Given the description of an element on the screen output the (x, y) to click on. 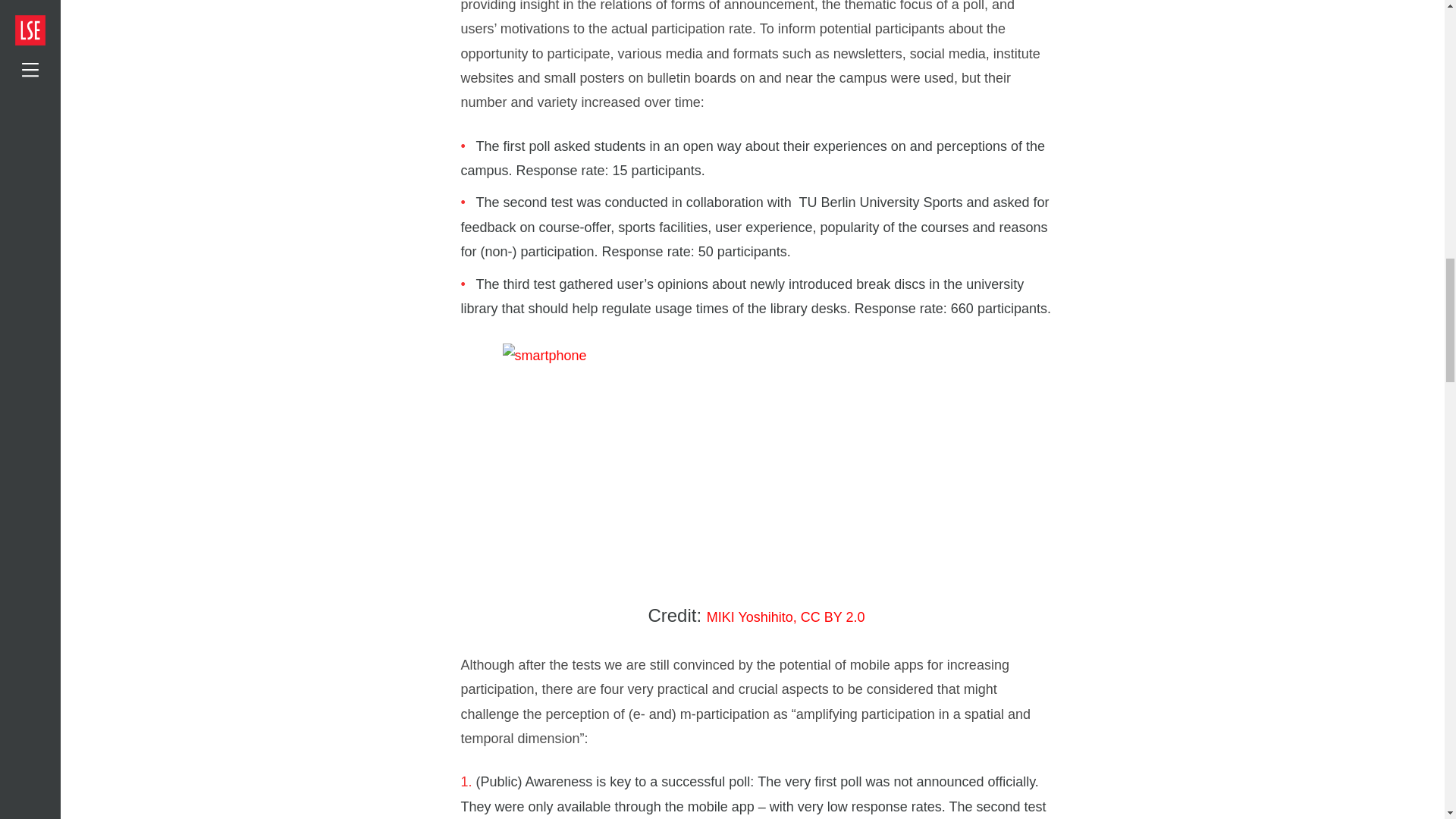
MIKI Yoshihito, CC BY 2.0 (785, 616)
